Given the description of an element on the screen output the (x, y) to click on. 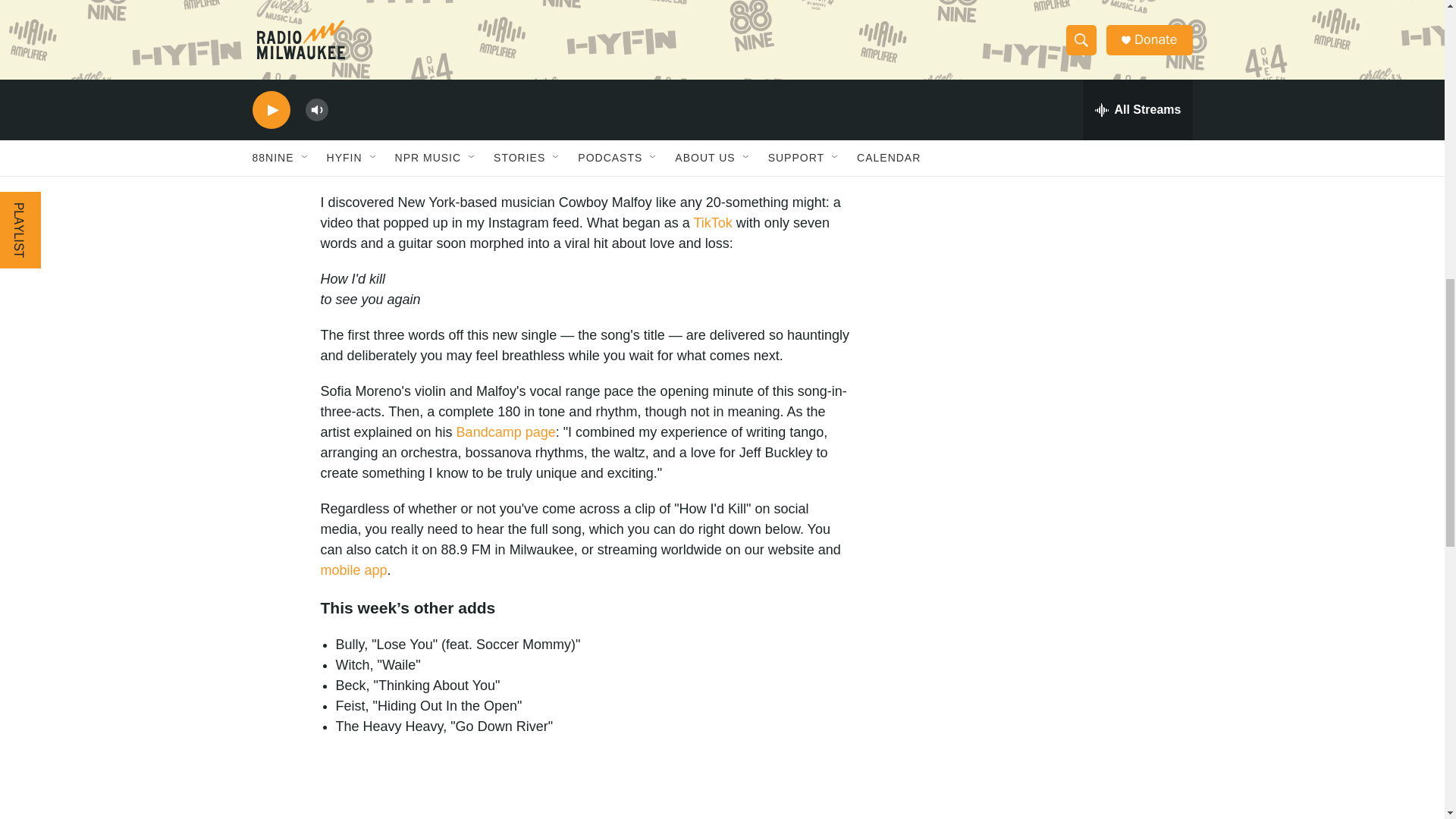
How I'd Kill (585, 796)
